Given the description of an element on the screen output the (x, y) to click on. 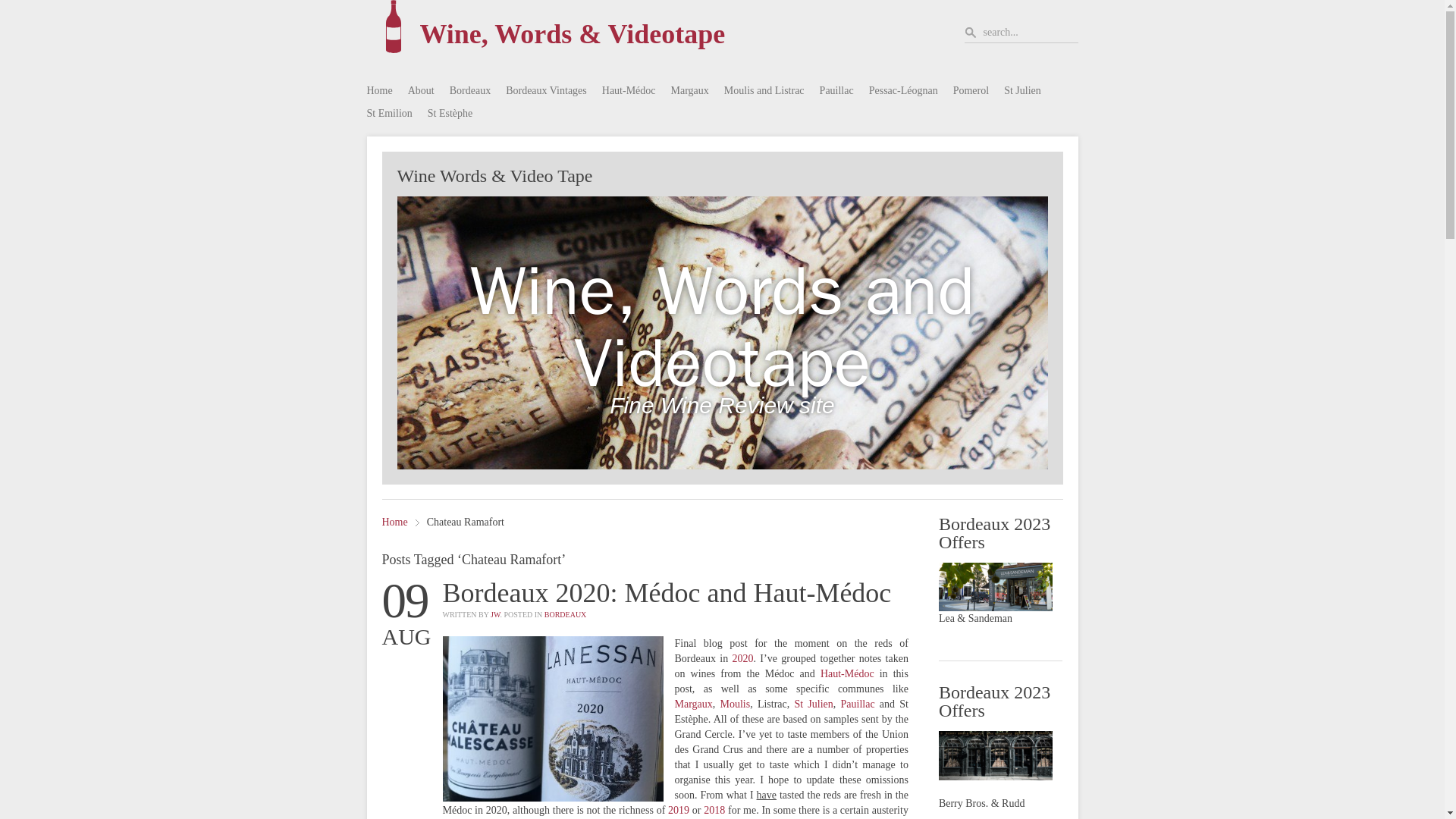
Margaux (690, 90)
Bordeaux Vintages (545, 90)
Home (379, 90)
About (420, 90)
Bordeaux 2019 Offers (995, 586)
Bordeaux 2019 Offers (995, 755)
Reset (3, 2)
JW (494, 614)
Bordeaux (469, 90)
